Given the description of an element on the screen output the (x, y) to click on. 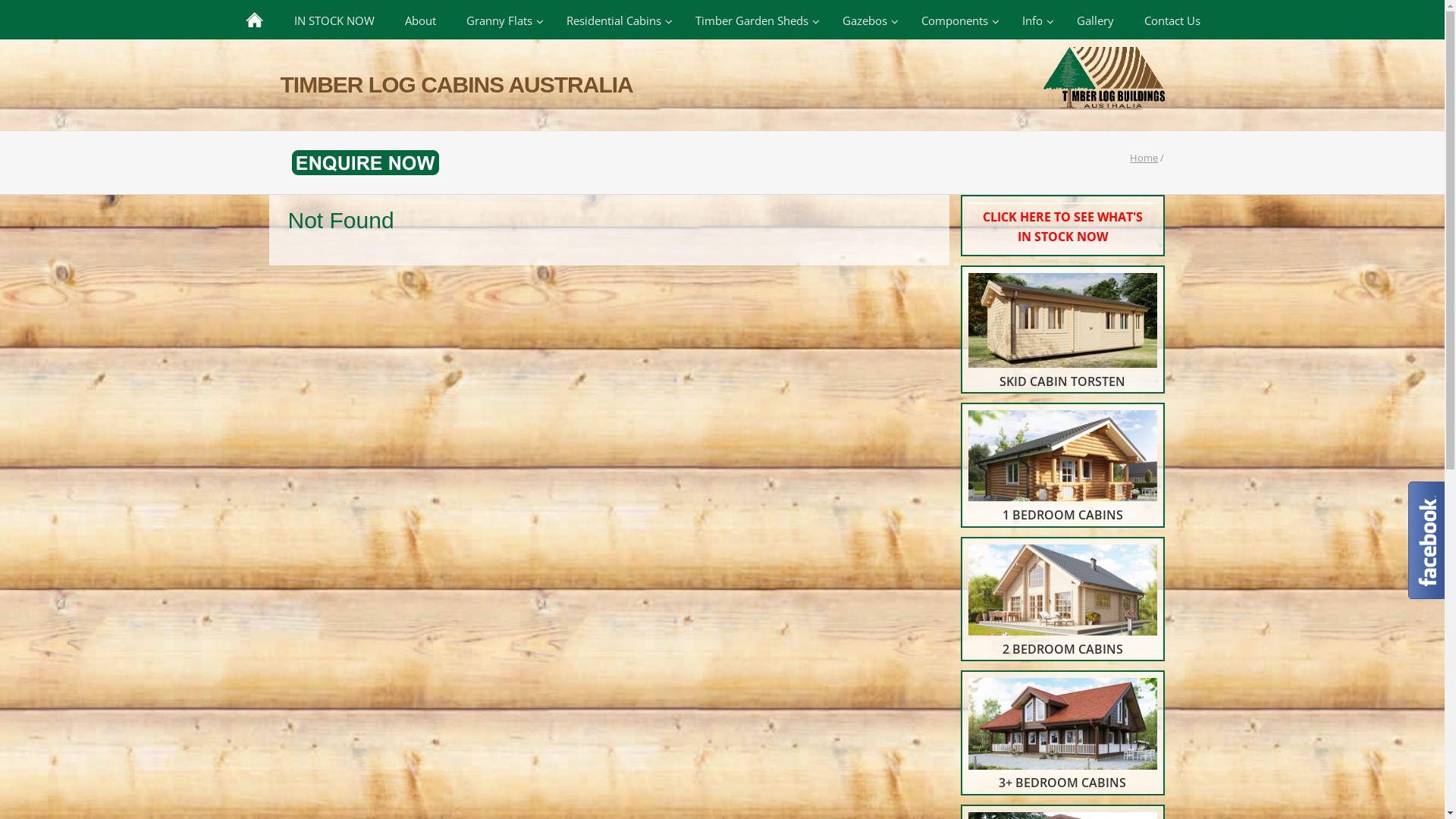
SKID CABIN TORSTEN Element type: text (1061, 332)
Enquire Now Element type: hover (359, 161)
Residential Cabins Element type: text (614, 19)
IN STOCK NOW Element type: text (334, 19)
CLICK HERE TO SEE WHAT'S
IN STOCK NOW Element type: text (1061, 224)
3+ BEDROOM CABINS Element type: text (1061, 735)
Contact Us Element type: text (1171, 19)
Timber Garden Sheds Element type: text (752, 19)
Granny Flats Element type: text (500, 19)
2 BEDROOM CABINS Element type: text (1061, 601)
1 BEDROOM CABINS Element type: text (1061, 467)
Home Element type: text (1143, 157)
Gallery Element type: text (1095, 19)
Gazebos Element type: text (865, 19)
TIMBER LOG CABINS AUSTRALIA Element type: text (722, 84)
About Element type: text (420, 19)
